Given the description of an element on the screen output the (x, y) to click on. 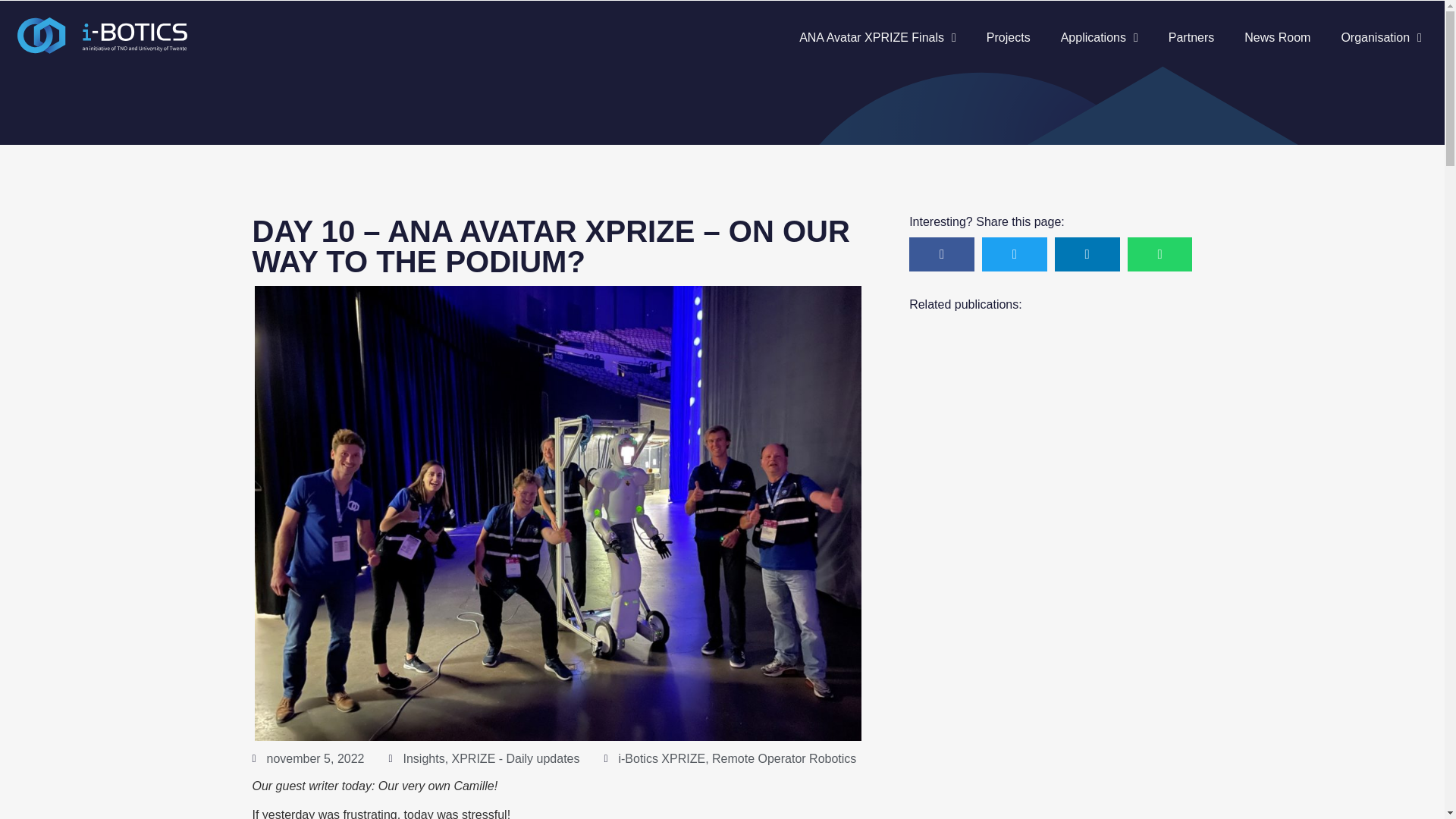
Projects (1008, 37)
Organisation (1380, 37)
Applications (1099, 37)
Partners (1190, 37)
ANA Avatar XPRIZE Finals (877, 37)
News Room (1276, 37)
